Given the description of an element on the screen output the (x, y) to click on. 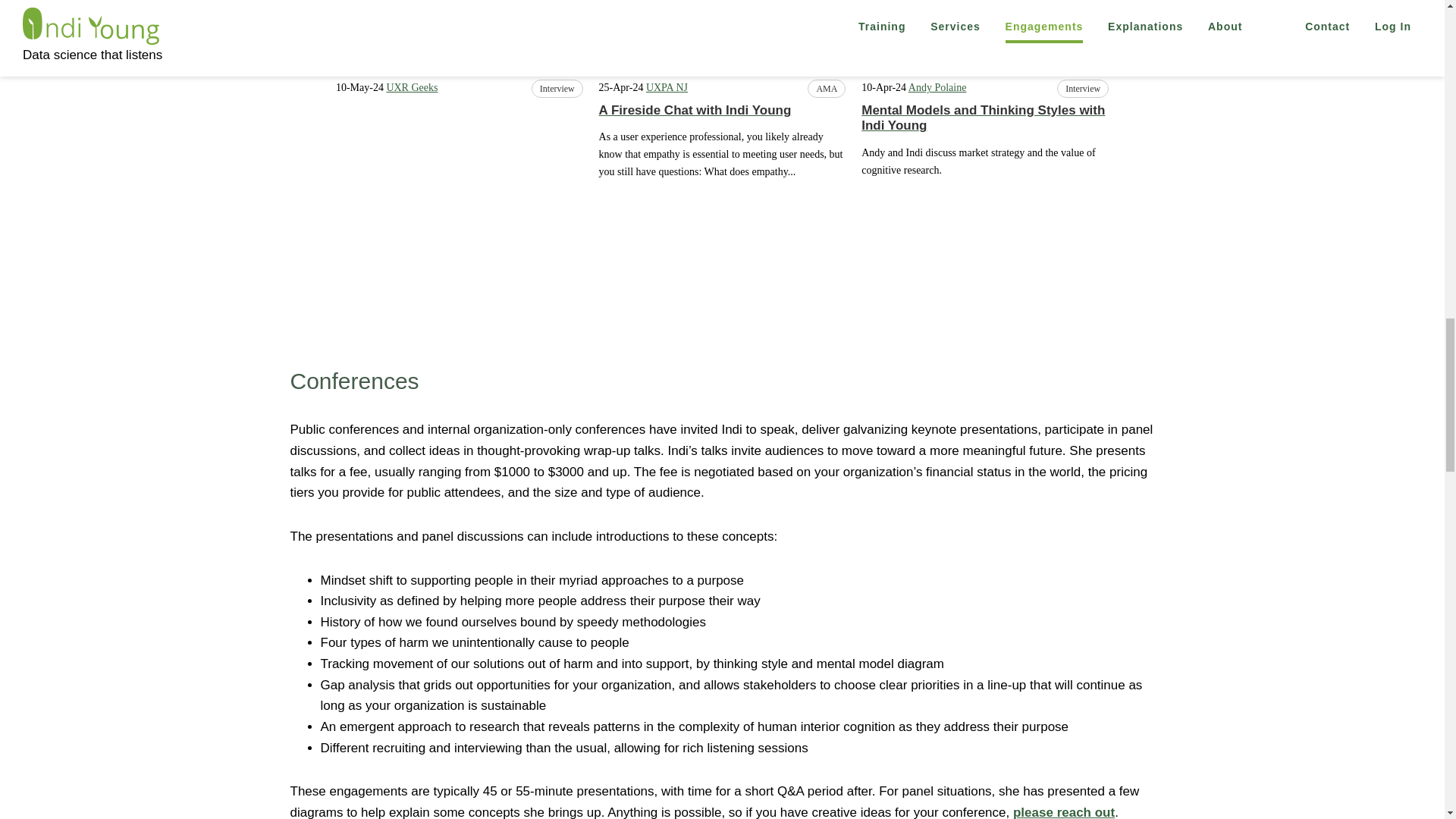
UXR Geeks (411, 87)
Mental Models and Thinking Styles with Indi Young (984, 118)
UXR Geeks (411, 87)
A Fireside Chat with Indi Young (721, 32)
UXPA NJ (666, 87)
Andy Polaine (937, 87)
Mental Models and Thinking Styles with Indi Young (984, 118)
A Fireside Chat with Indi Young (721, 110)
please reach out (1064, 812)
Mental Models and Thinking Styles with Indi Young (984, 32)
